Given the description of an element on the screen output the (x, y) to click on. 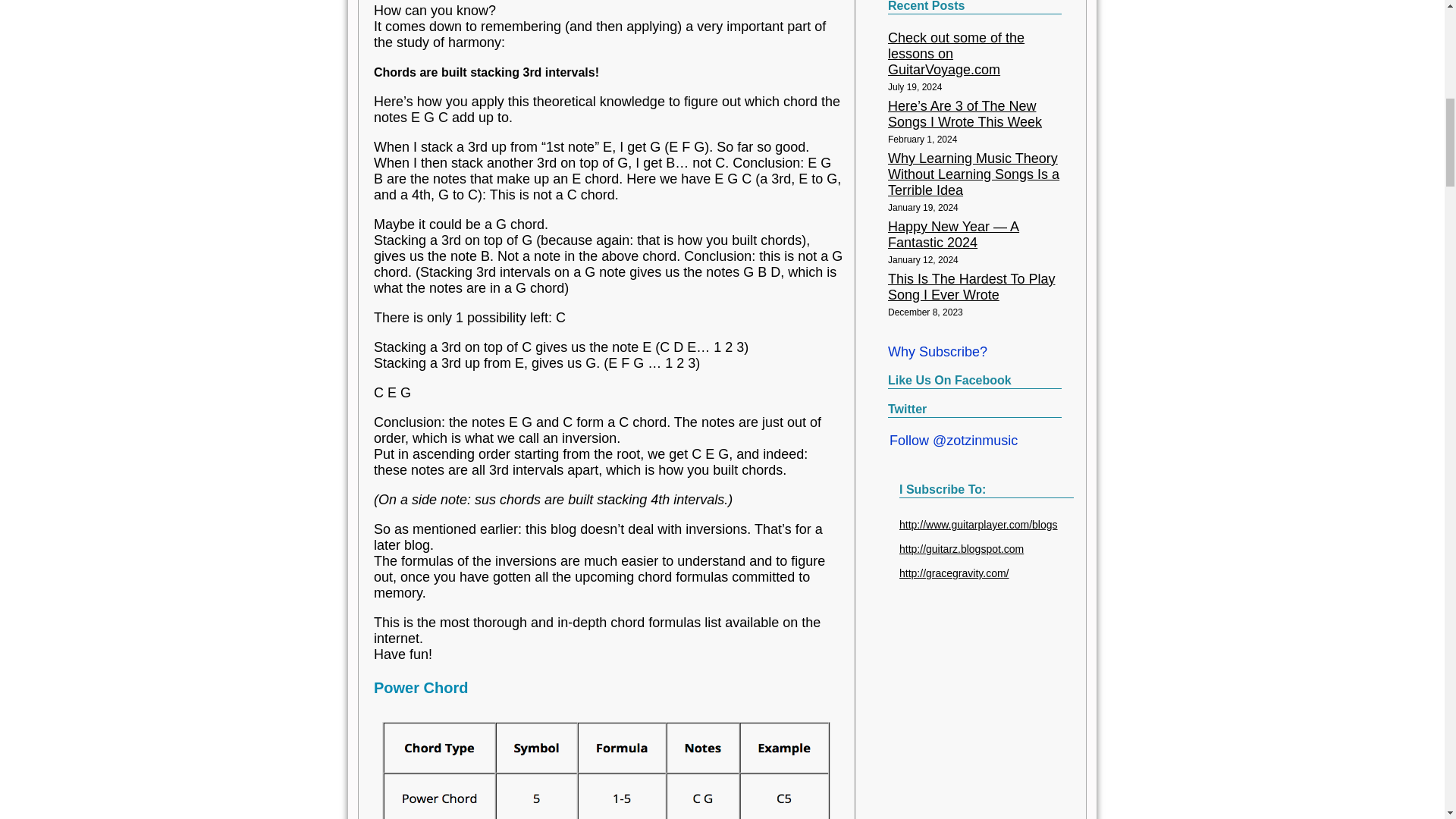
why-subscribe (937, 351)
